Given the description of an element on the screen output the (x, y) to click on. 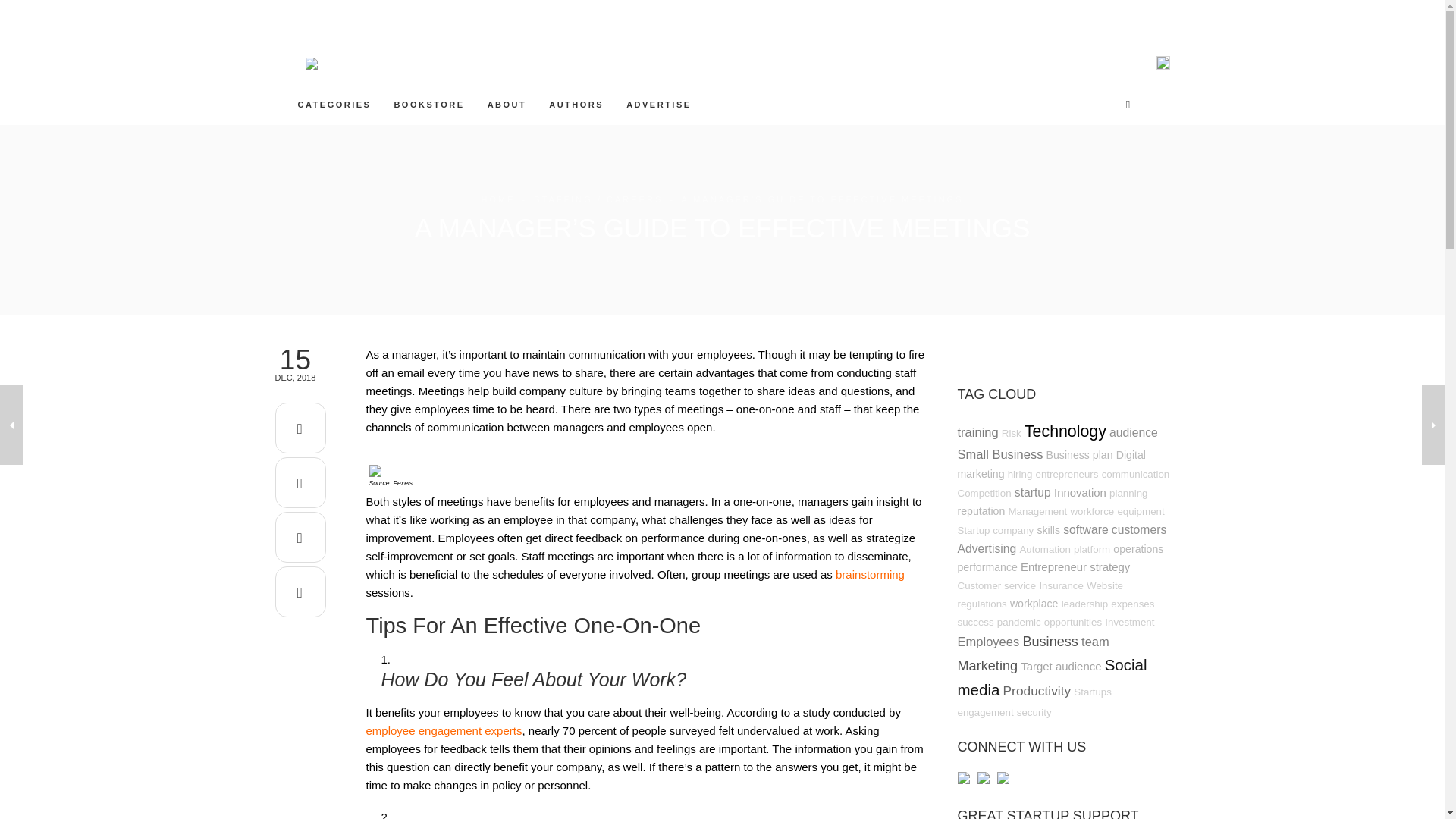
employee engagement experts (443, 730)
602 topics (1065, 431)
ABOUT (507, 103)
2015 EMPLOYEE ENGAGEMENT REPORT (443, 730)
Welcome to The Startup Magazine (507, 103)
308 topics (1133, 431)
HOME (497, 198)
brainstorming (869, 574)
Categories (334, 103)
ADVERTISE (657, 103)
